Given the description of an element on the screen output the (x, y) to click on. 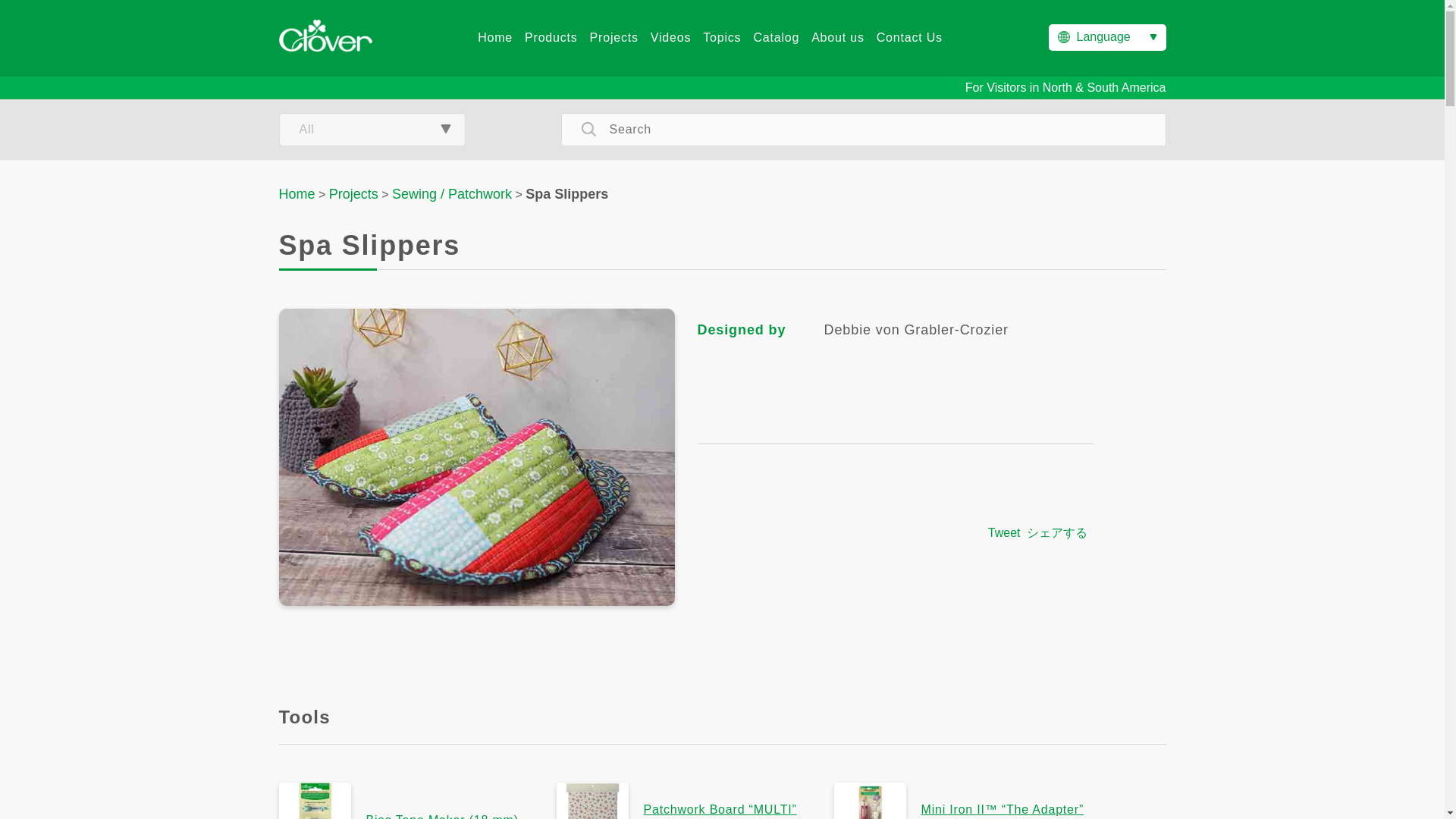
Contact Us (909, 37)
Projects (353, 193)
Tweet (1004, 532)
Catalog (775, 37)
Videos (670, 37)
Home (297, 193)
Topics (722, 37)
Projects (614, 37)
Products (551, 37)
Home (494, 37)
